Given the description of an element on the screen output the (x, y) to click on. 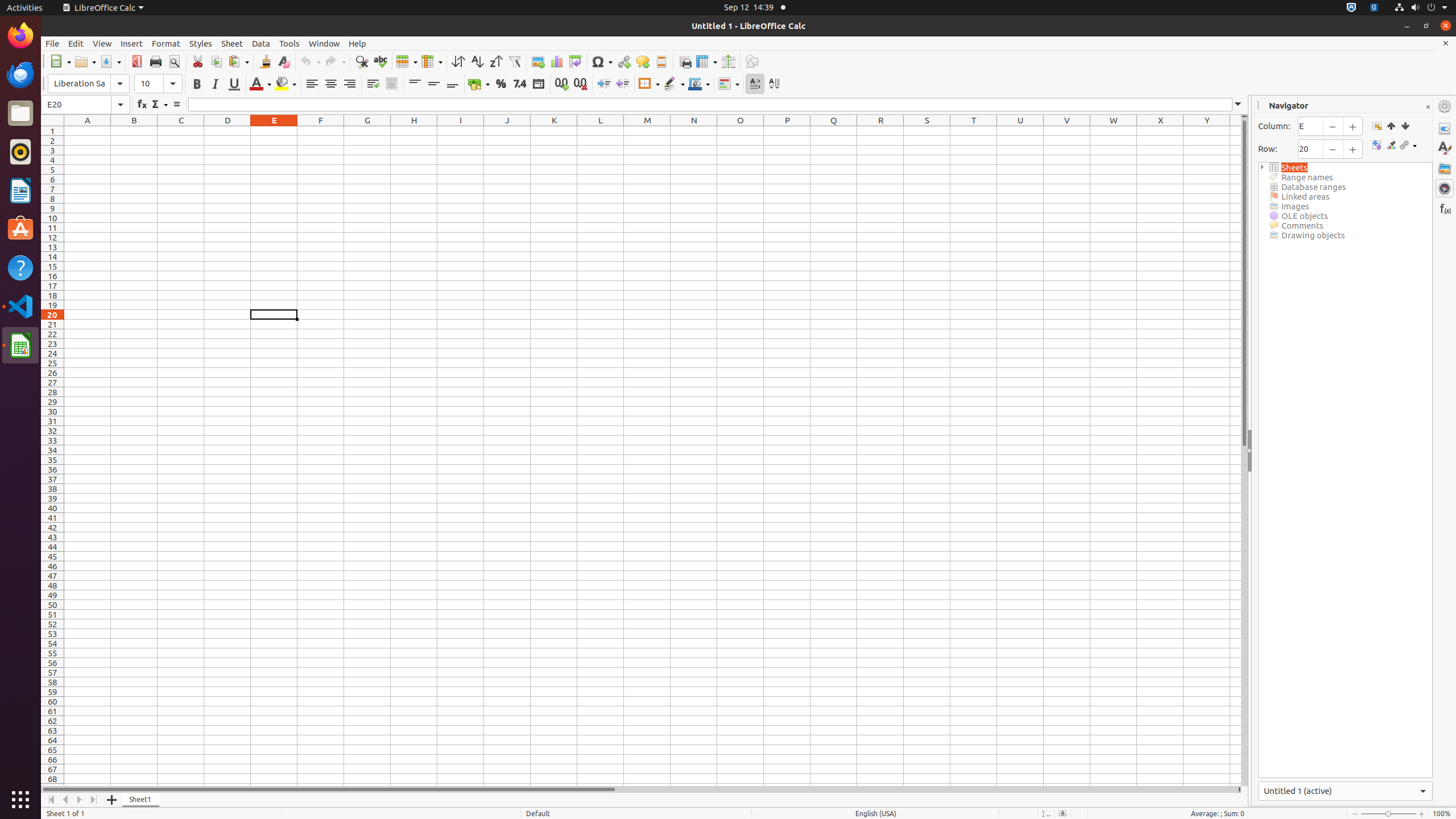
Sheet1 Element type: page-tab (140, 799)
Sort Ascending Element type: push-button (476, 61)
T1 Element type: table-cell (973, 130)
M1 Element type: table-cell (646, 130)
Currency Element type: push-button (478, 83)
